Given the description of an element on the screen output the (x, y) to click on. 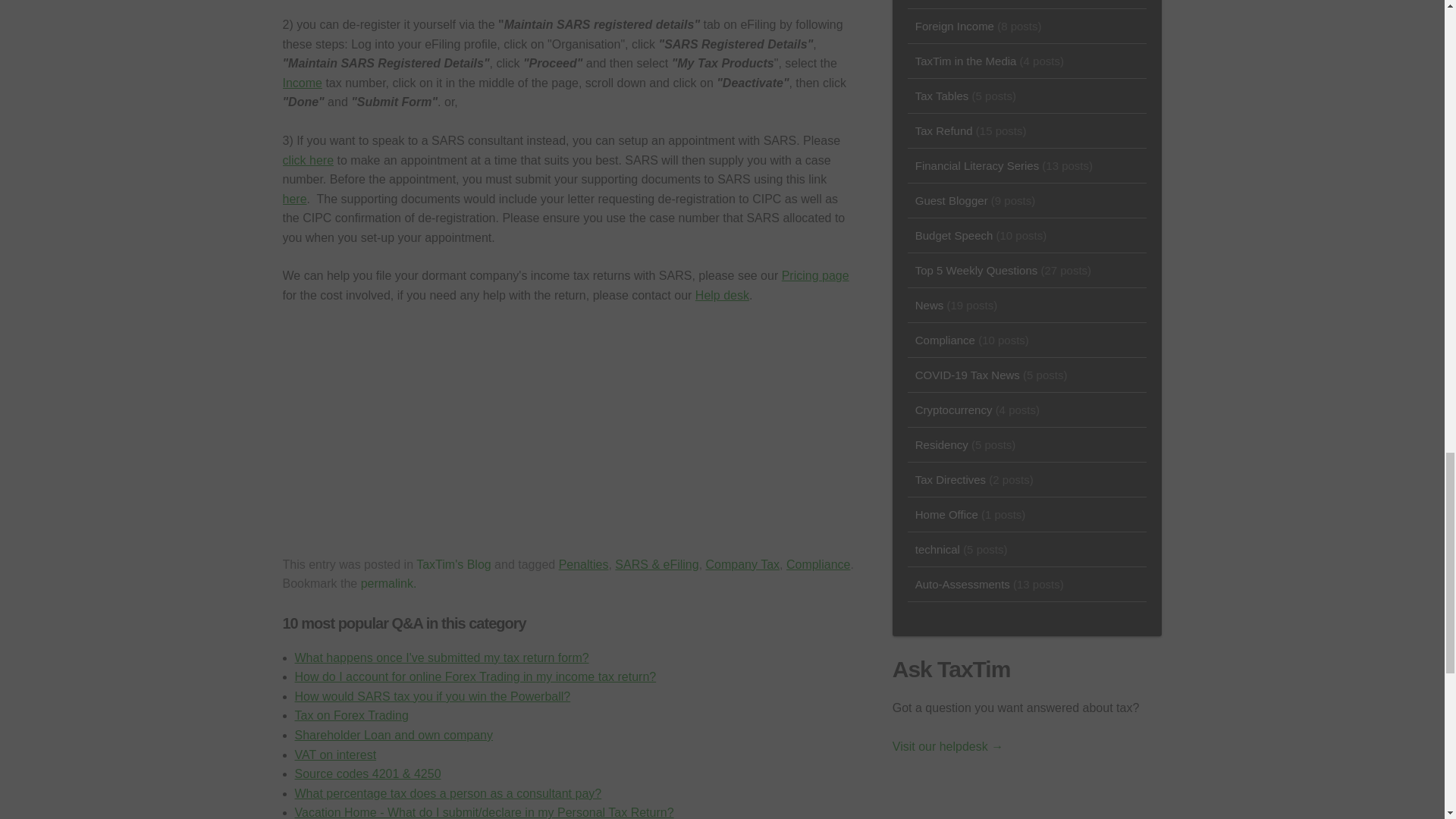
View all posts in TaxTim's Blog (453, 563)
Bookmark to  (388, 583)
Click for definition (301, 82)
